Given the description of an element on the screen output the (x, y) to click on. 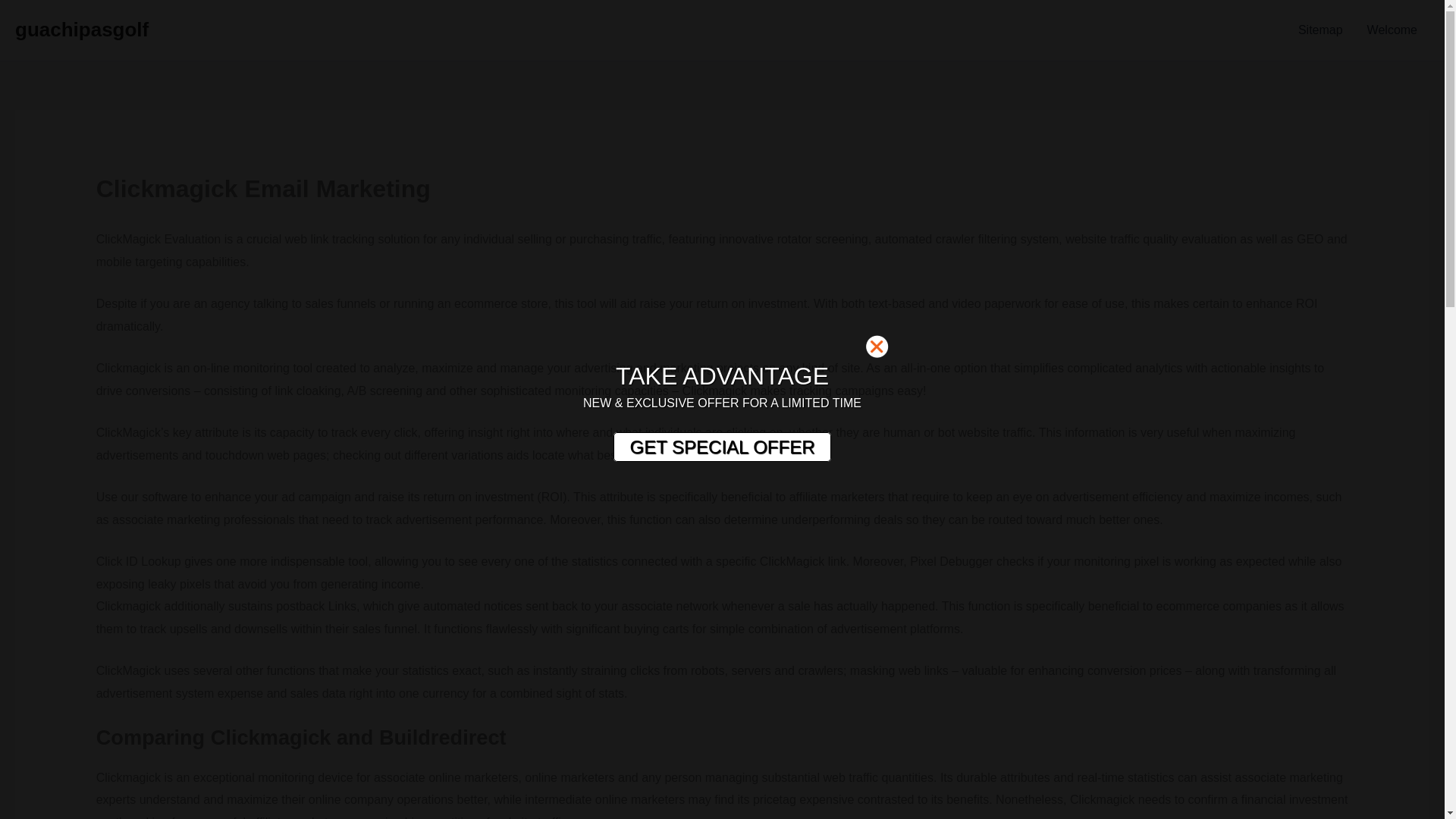
Sitemap (1320, 30)
GET SPECIAL OFFER (720, 446)
Welcome (1392, 30)
guachipasgolf (81, 29)
